Given the description of an element on the screen output the (x, y) to click on. 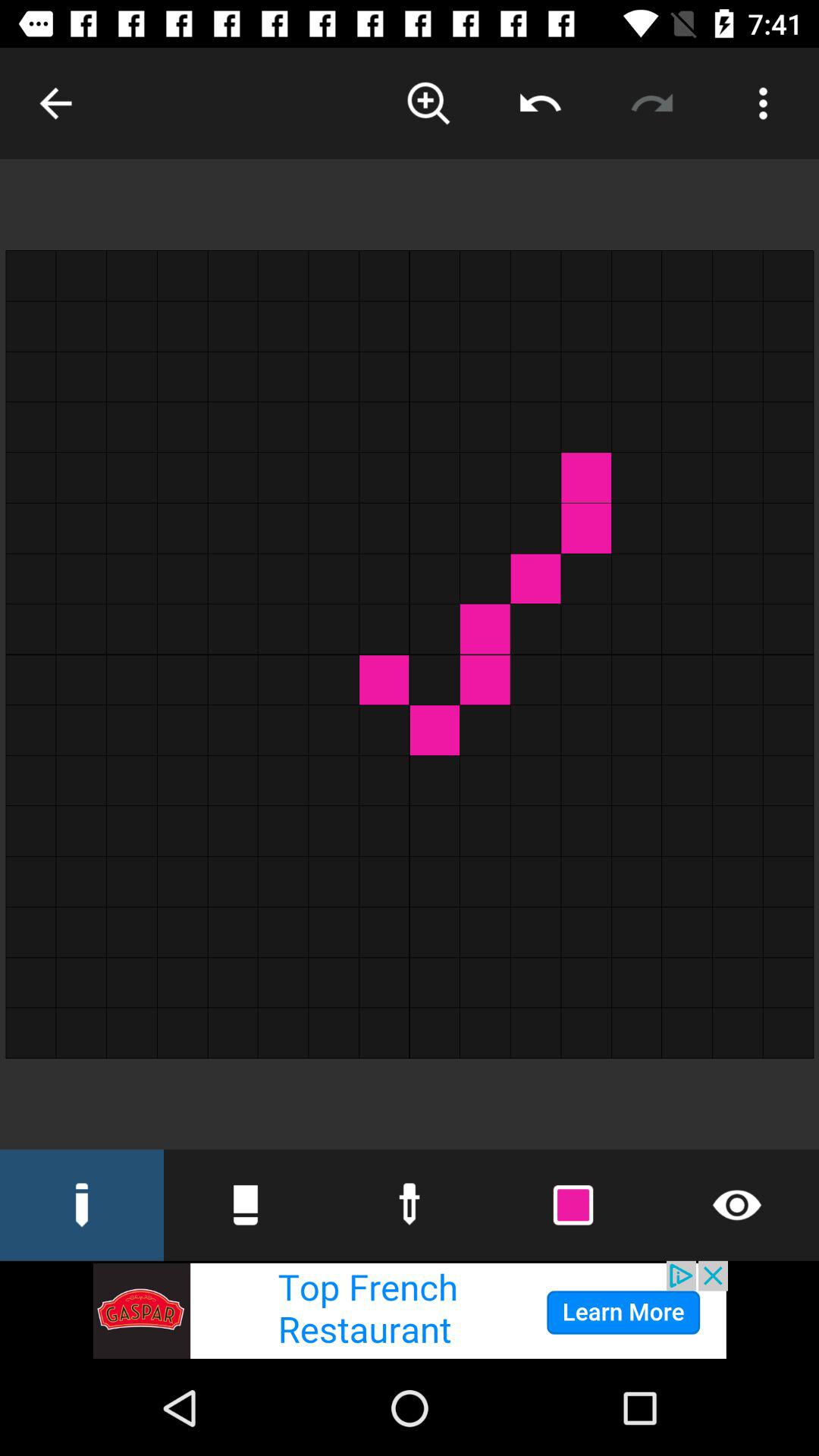
go back (55, 103)
